Given the description of an element on the screen output the (x, y) to click on. 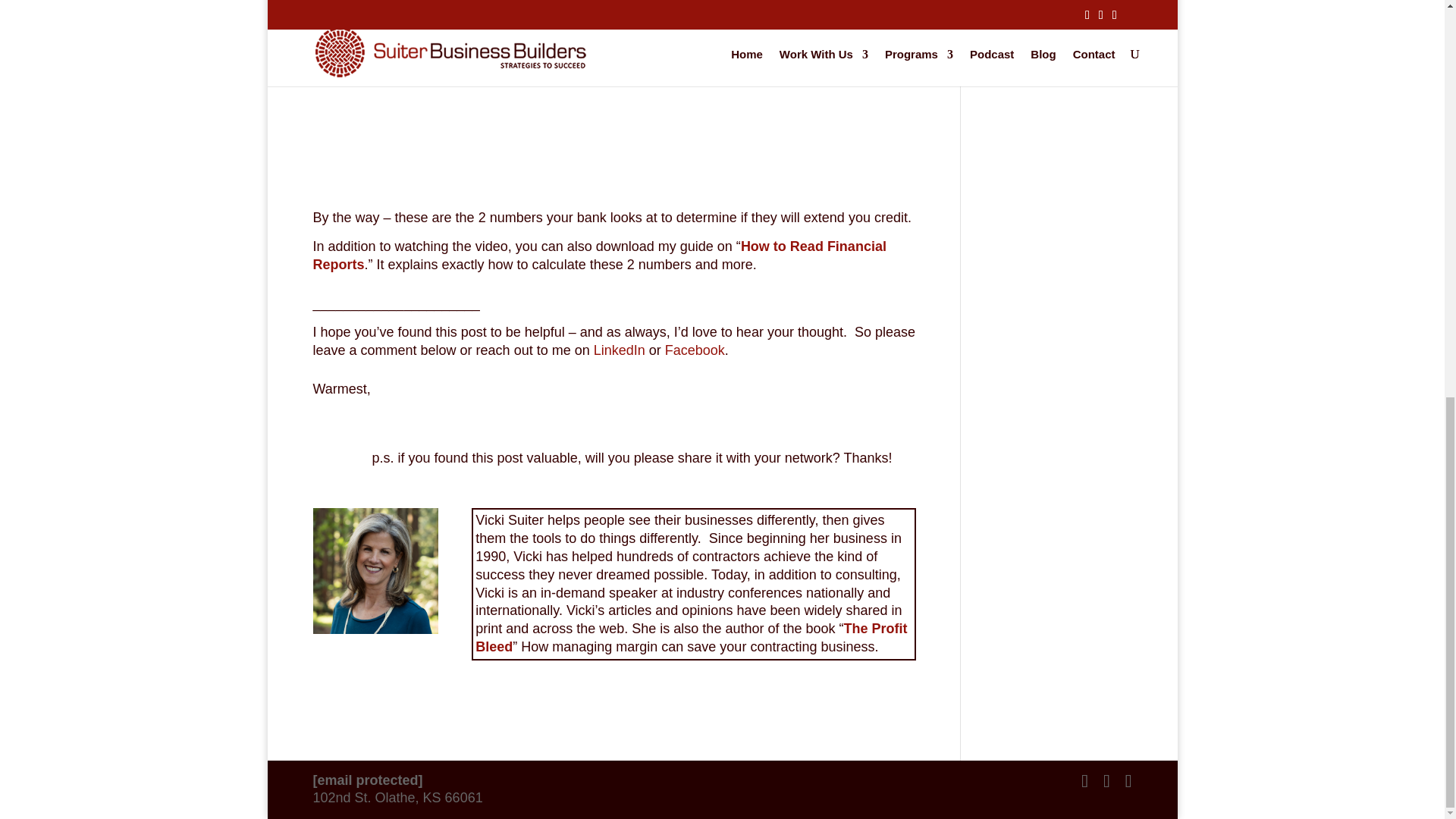
The Profit Bleed (691, 637)
How to Read a Balance Sheet (614, 79)
LinkedIn (619, 350)
Facebook (695, 350)
How to Read Financial Reports (599, 255)
